Given the description of an element on the screen output the (x, y) to click on. 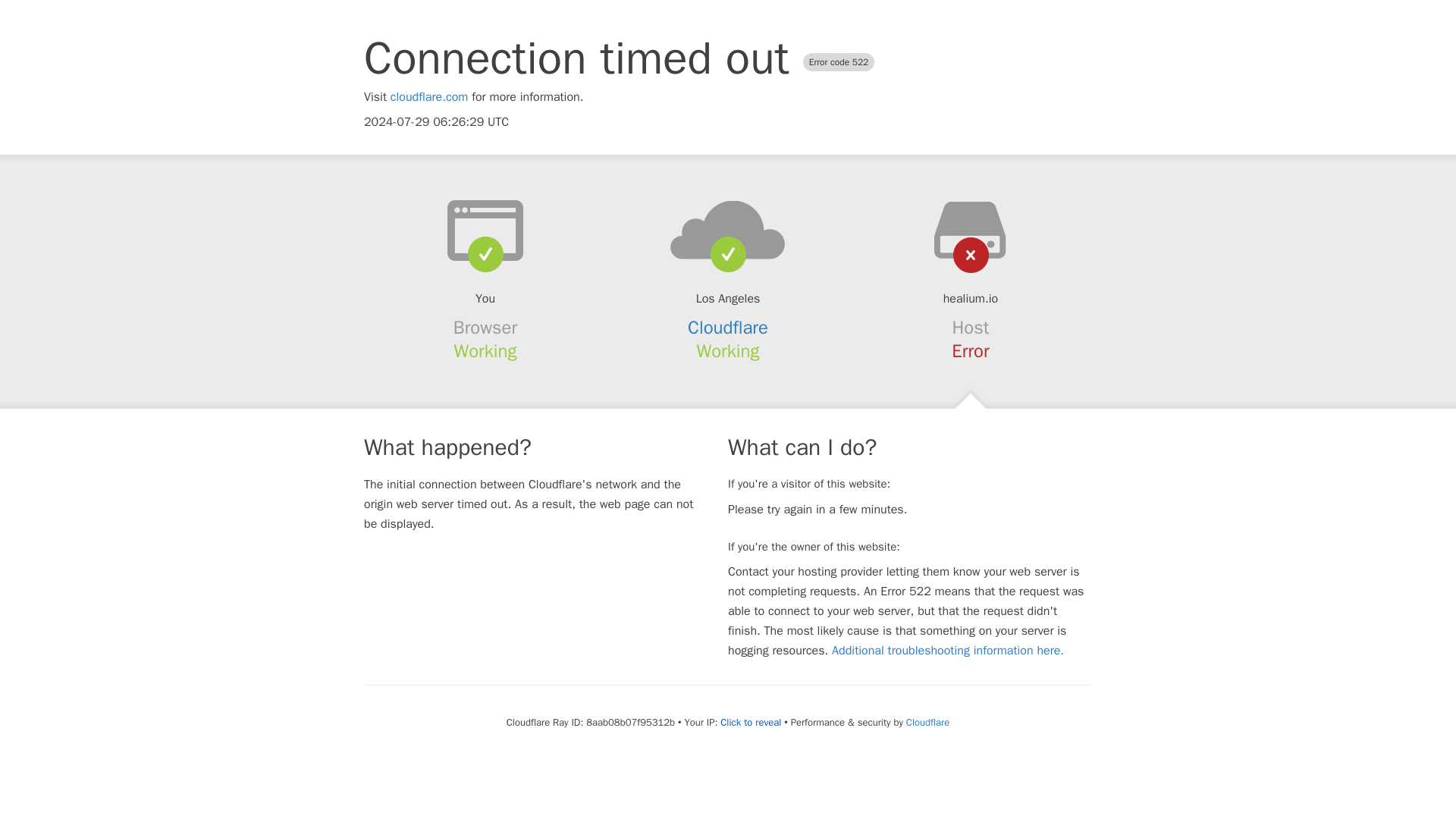
Cloudflare (727, 327)
cloudflare.com (429, 96)
Cloudflare (927, 721)
Additional troubleshooting information here. (947, 650)
Click to reveal (750, 722)
